Given the description of an element on the screen output the (x, y) to click on. 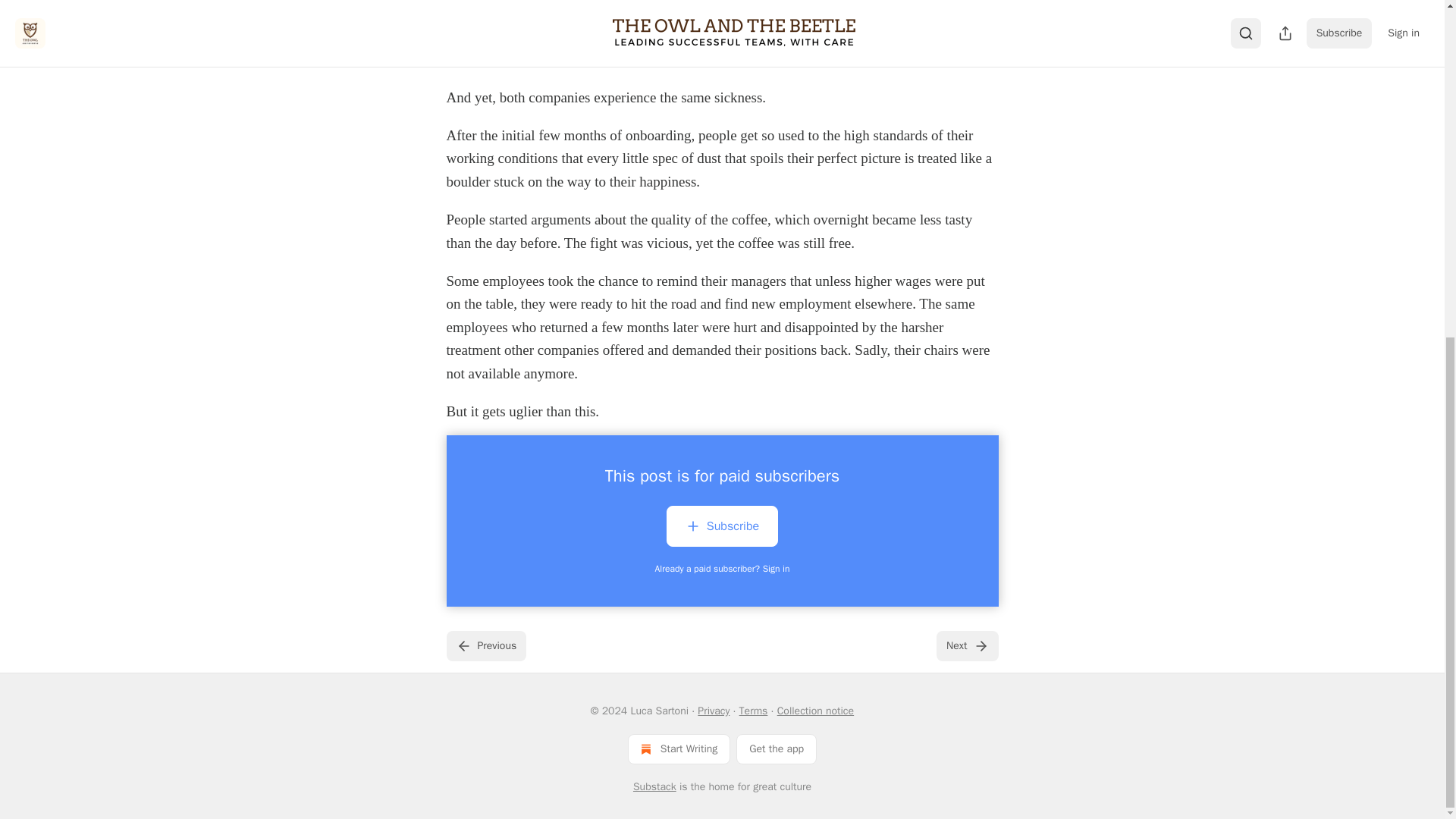
Substack (655, 786)
Privacy (713, 710)
Already a paid subscriber? Sign in (722, 568)
Get the app (776, 748)
Previous (485, 645)
Start Writing (678, 748)
Subscribe (721, 529)
Subscribe (721, 526)
Next (966, 645)
Collection notice (815, 710)
Terms (753, 710)
